Given the description of an element on the screen output the (x, y) to click on. 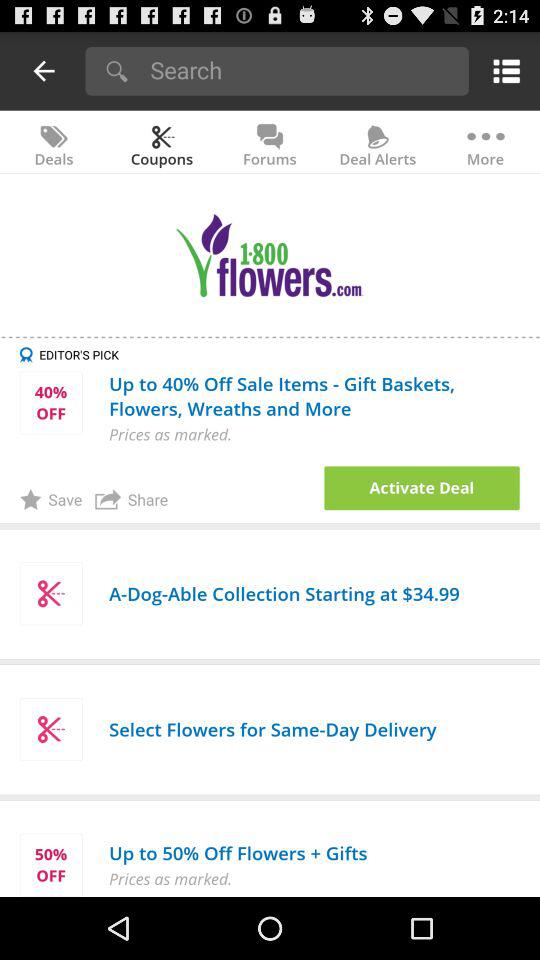
search slickdeals (302, 69)
